Given the description of an element on the screen output the (x, y) to click on. 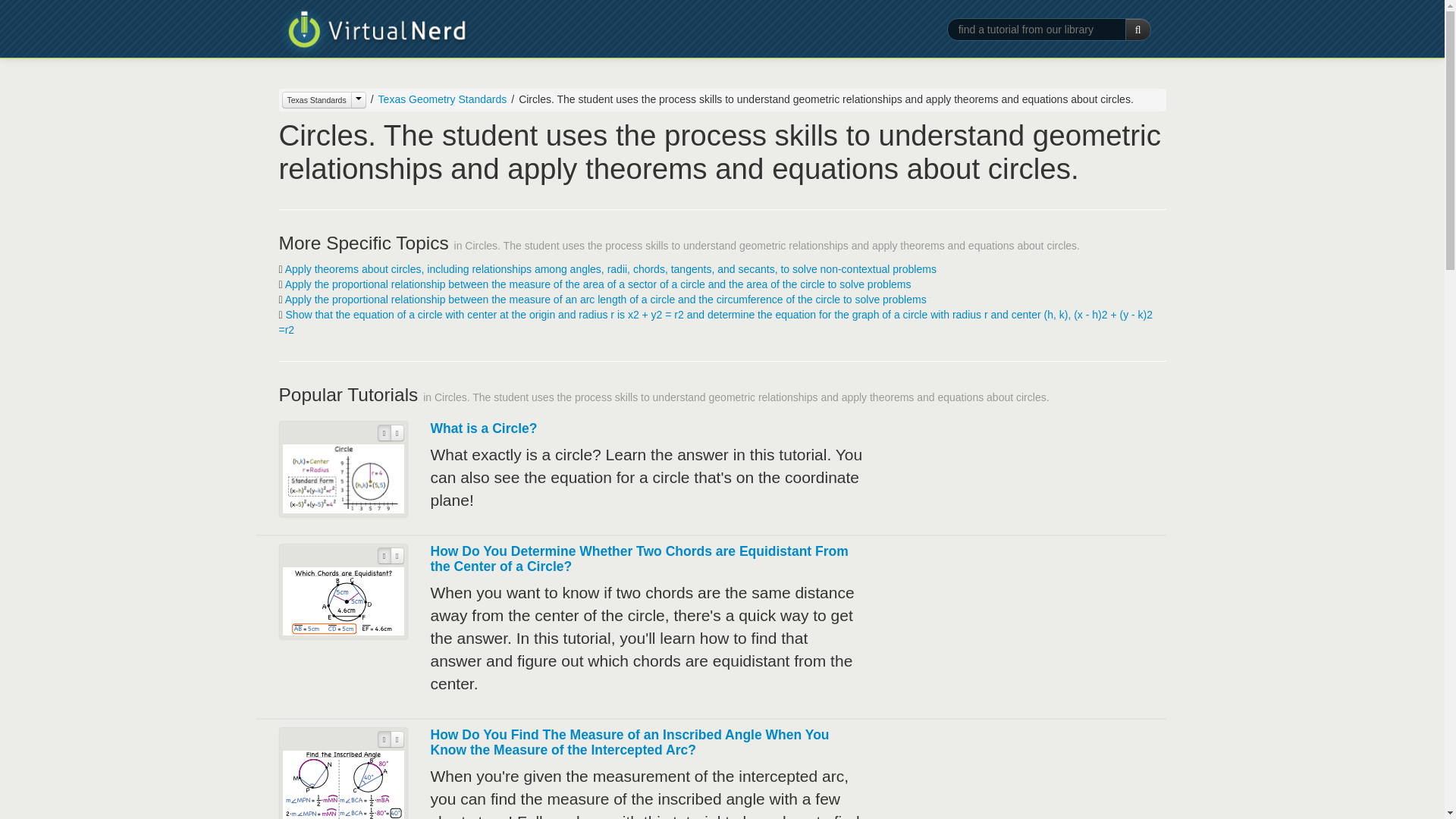
Texas Geometry Standards (436, 99)
Texas Standards (324, 99)
Texas Geometry Standards (442, 99)
What is a Circle? (483, 427)
